Given the description of an element on the screen output the (x, y) to click on. 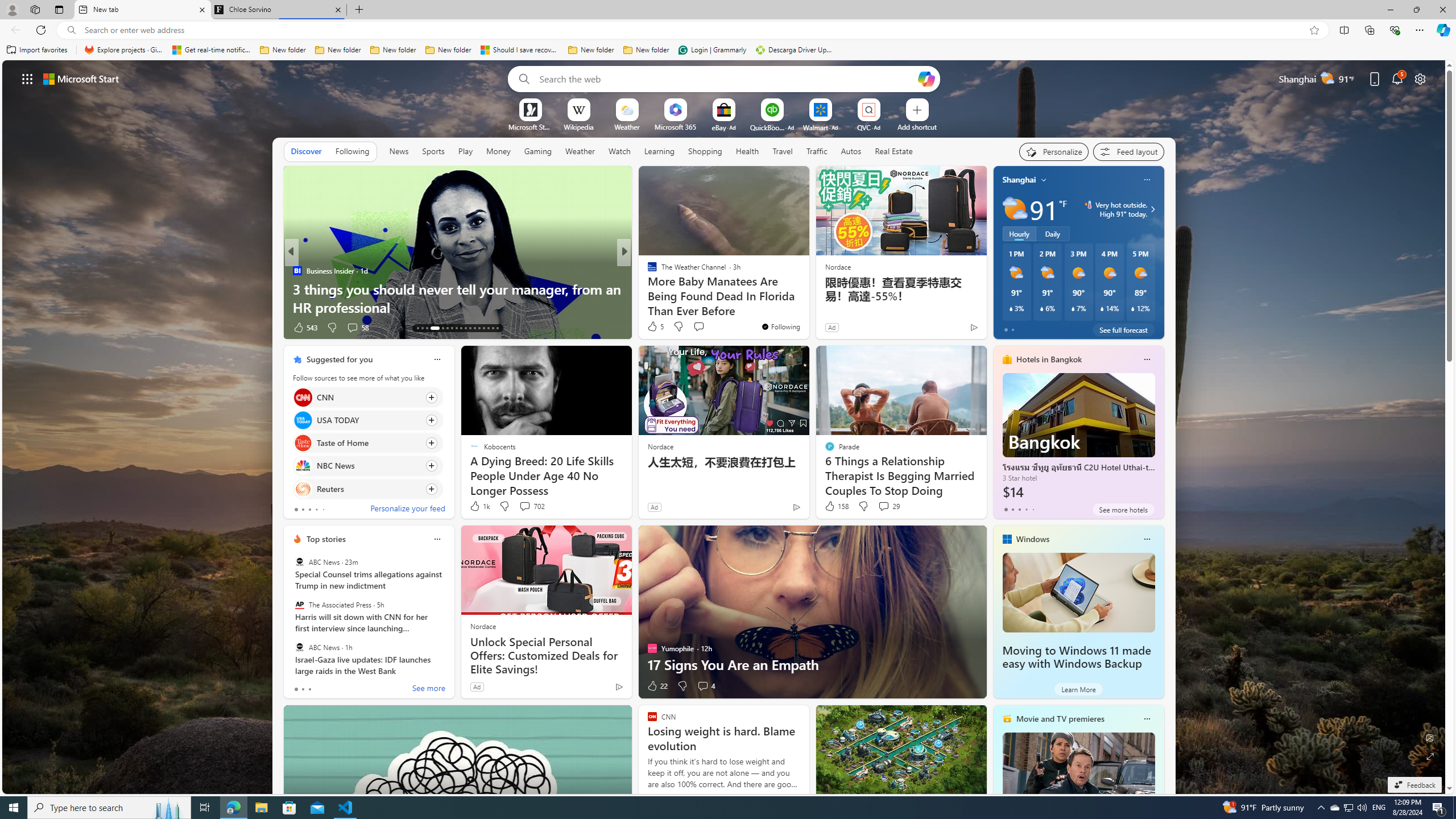
View comments 4 Comment (703, 685)
Taste of Home (302, 443)
Gaming (537, 151)
Edit Background (1430, 737)
Moving to Windows 11 made easy with Windows Backup (1076, 657)
View comments 2 Comment (698, 327)
AutomationID: tab-14 (422, 328)
View comments 702 Comment (530, 505)
Import favorites (36, 49)
Money (498, 151)
